Given the description of an element on the screen output the (x, y) to click on. 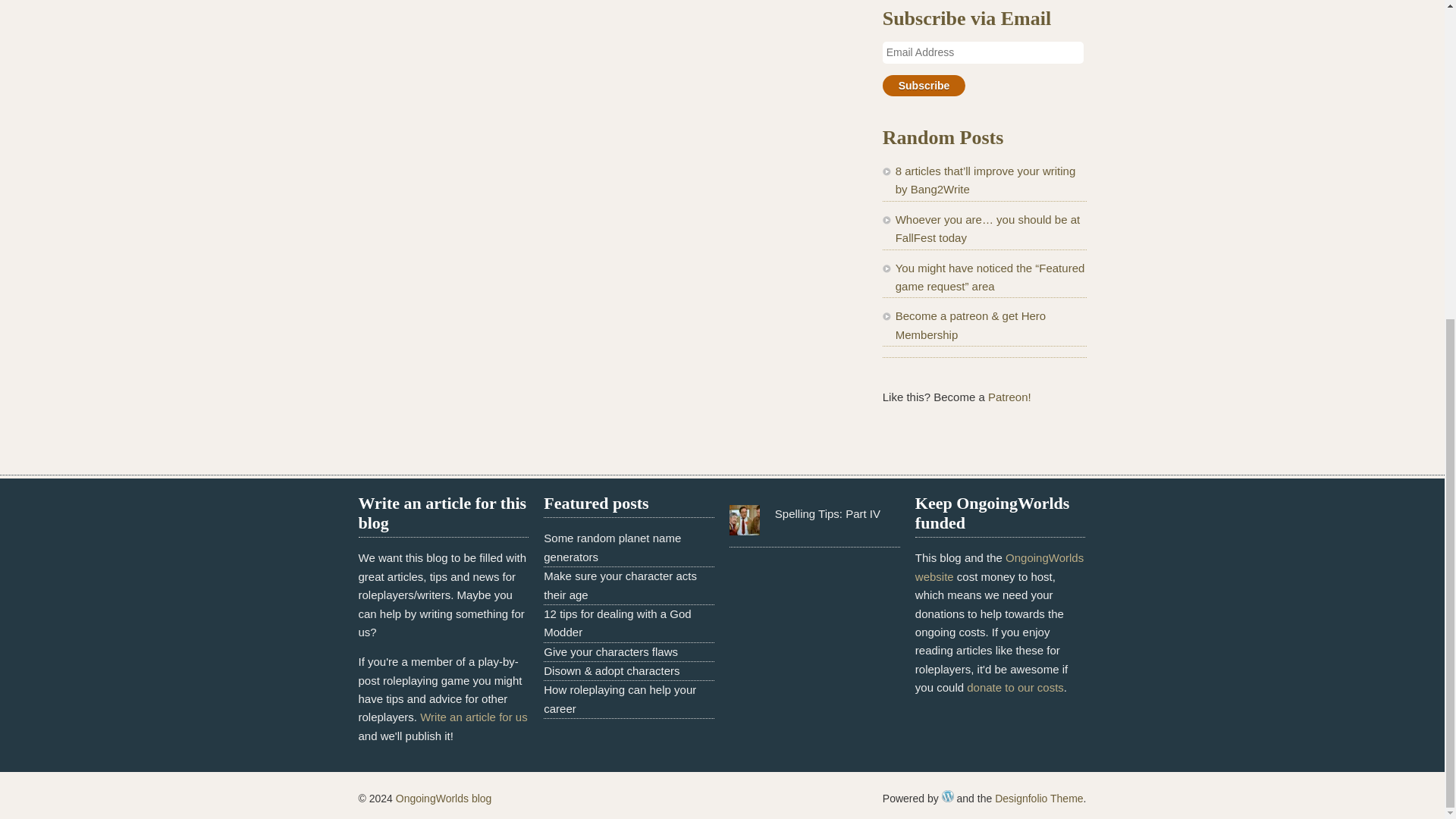
Subscribe (924, 85)
12 tips for dealing with a God Modder (616, 622)
Patreon! (1009, 396)
Subscribe (924, 85)
OngoingWorlds blog (444, 798)
Write an article for us (473, 716)
Some random planet name generators (612, 546)
Give your characters flaws (610, 651)
Designfolio WordPress Theme (1038, 798)
Make sure your character acts their age (620, 584)
